Given the description of an element on the screen output the (x, y) to click on. 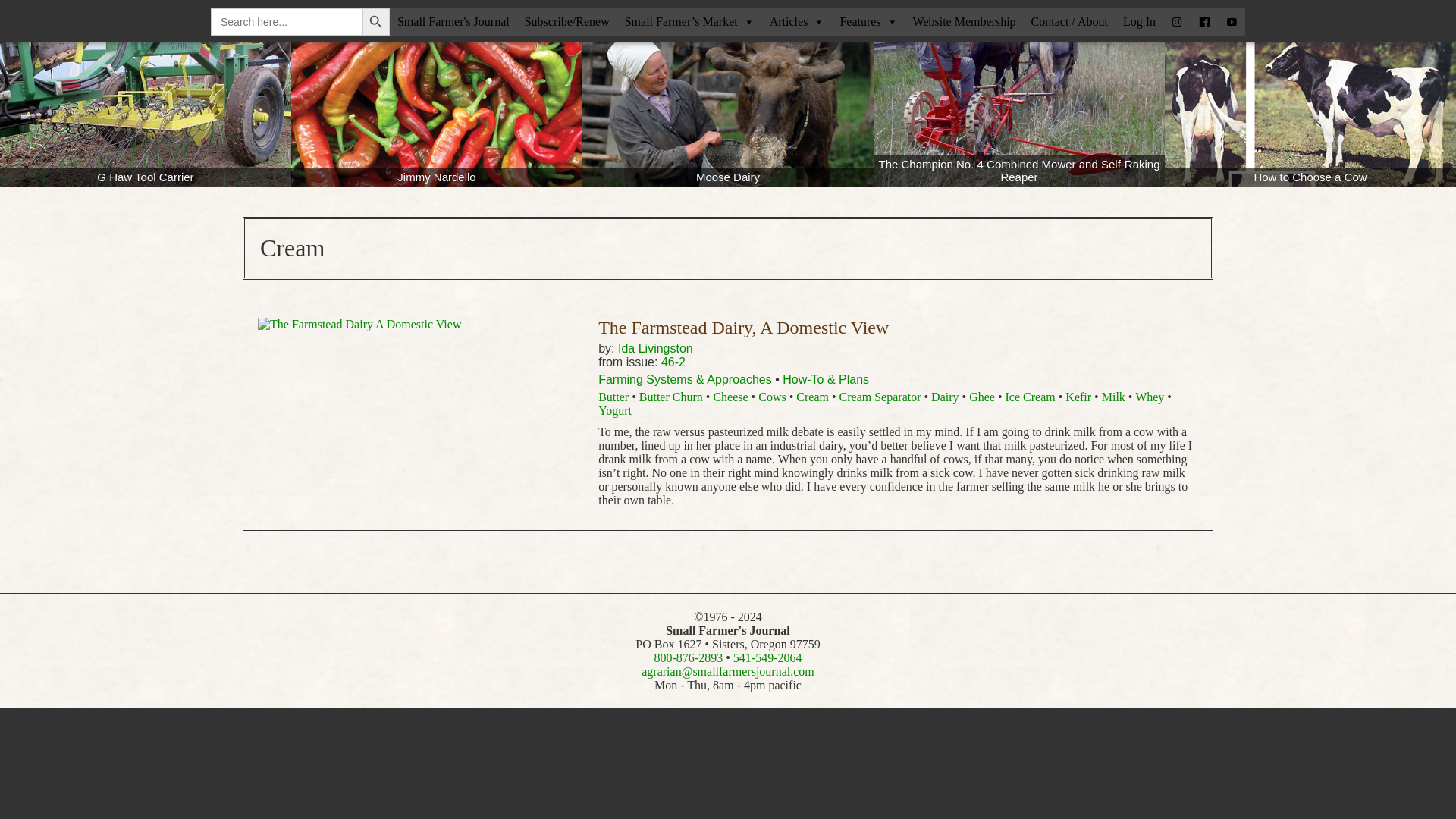
Log In (1139, 21)
Website Membership (964, 21)
Search Button (376, 22)
Features (867, 21)
Small Farmer's Journal (453, 21)
G Haw Tool Carrier (145, 113)
Articles (796, 21)
